Given the description of an element on the screen output the (x, y) to click on. 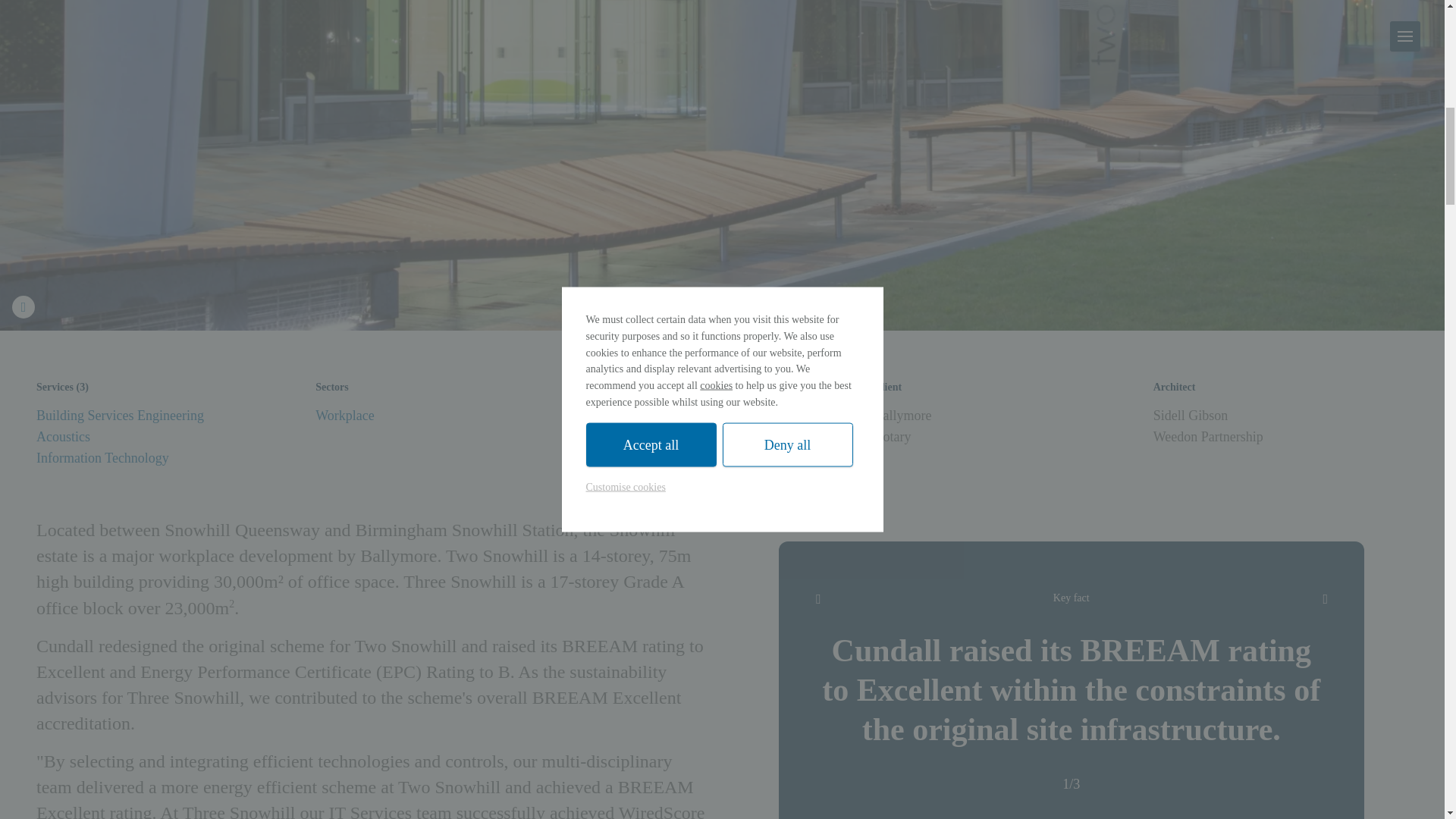
Acoustics (63, 436)
Workplace (344, 415)
Information Technology (102, 458)
Building Services Engineering (119, 415)
